Given the description of an element on the screen output the (x, y) to click on. 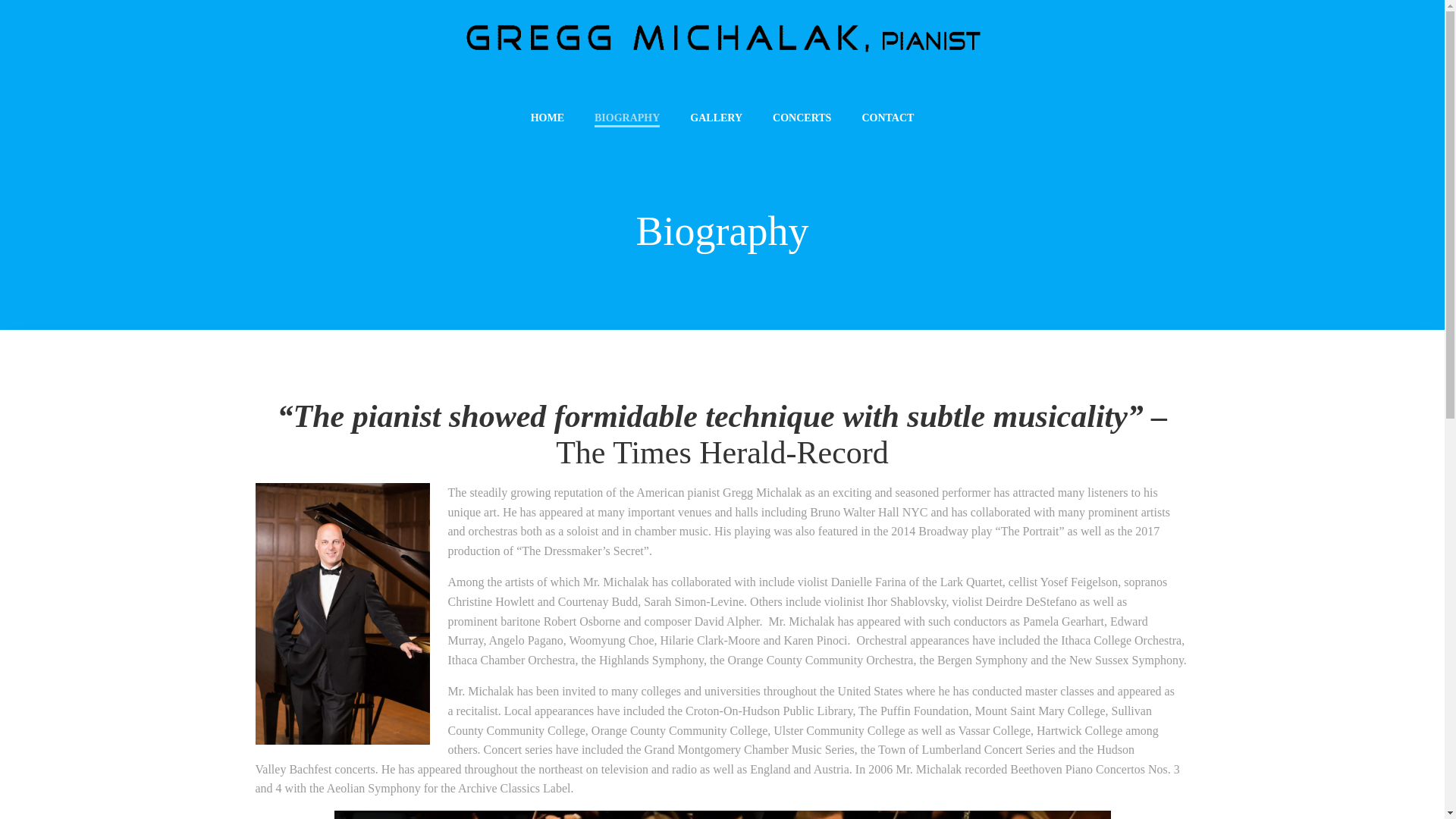
ColibriWP Theme (866, 773)
BIOGRAPHY (626, 117)
HOME (547, 117)
CONCERTS (802, 117)
GALLERY (716, 117)
CONTACT (887, 117)
